Given the description of an element on the screen output the (x, y) to click on. 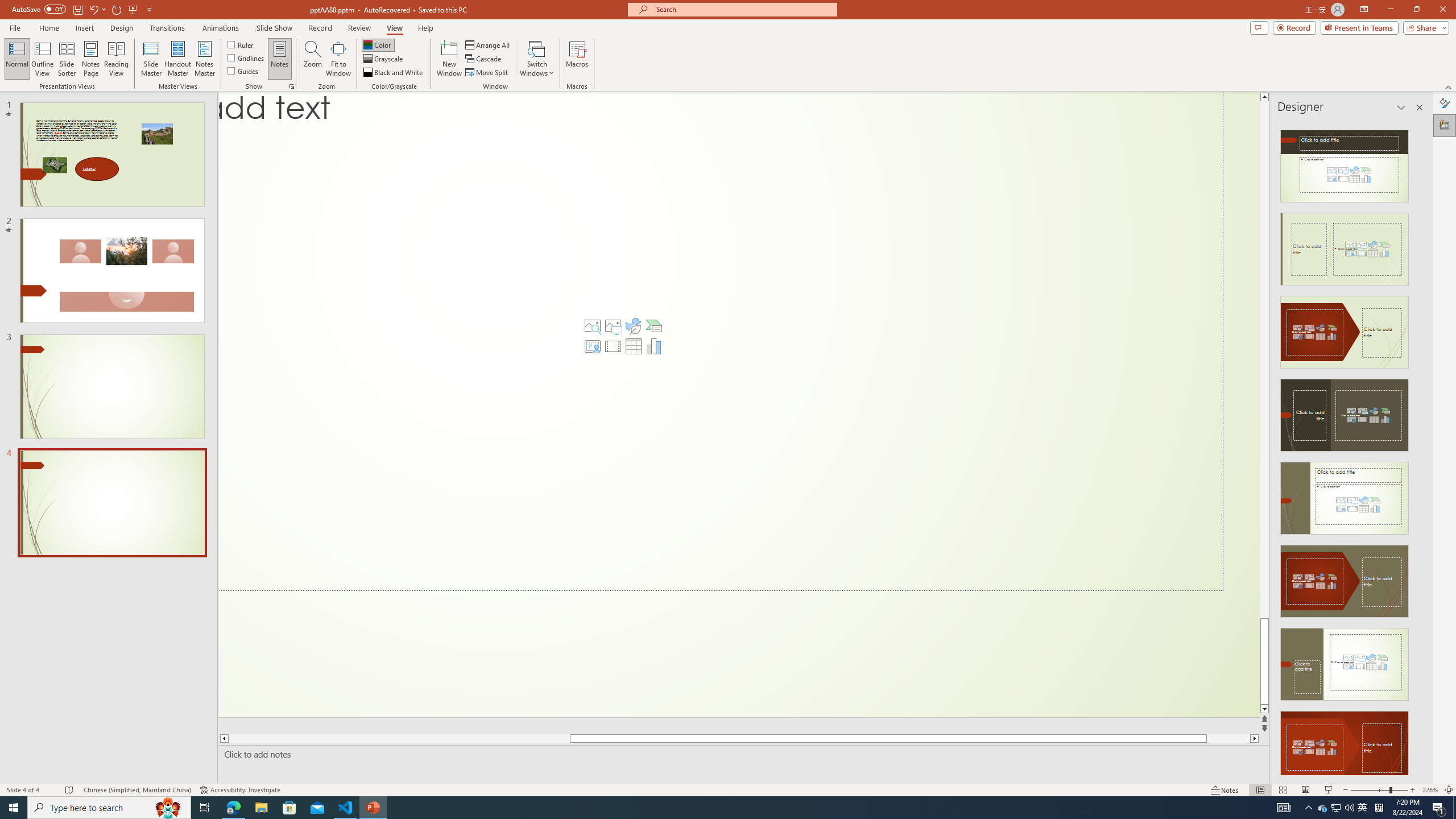
Recommended Design: Design Idea (1344, 162)
